Given the description of an element on the screen output the (x, y) to click on. 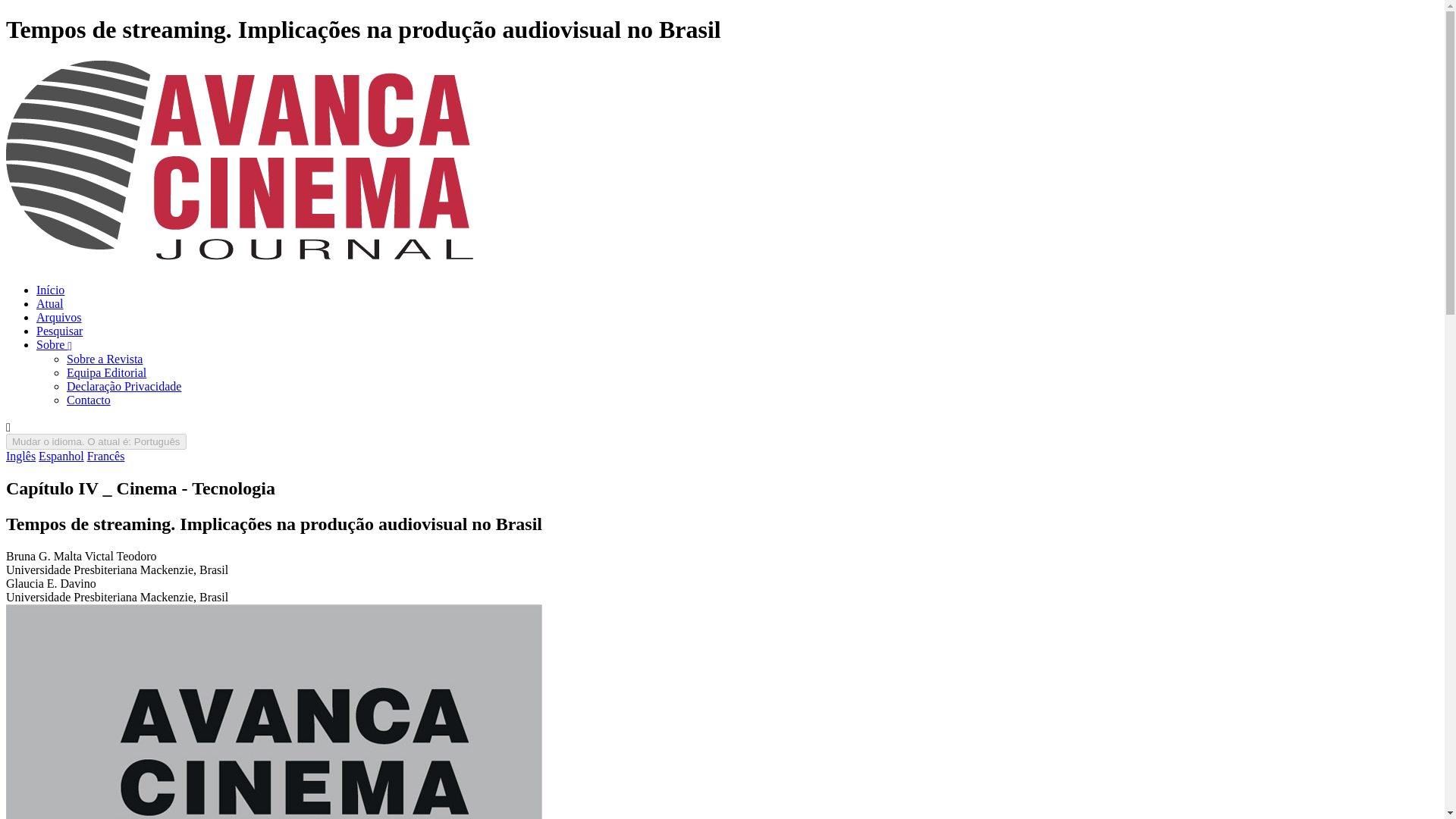
Pesquisar (59, 330)
Contacto (88, 399)
Equipa Editorial (106, 372)
Sobre (53, 344)
Espanhol (61, 455)
Sobre a Revista (104, 358)
Atual (50, 303)
Arquivos (58, 317)
